Given the description of an element on the screen output the (x, y) to click on. 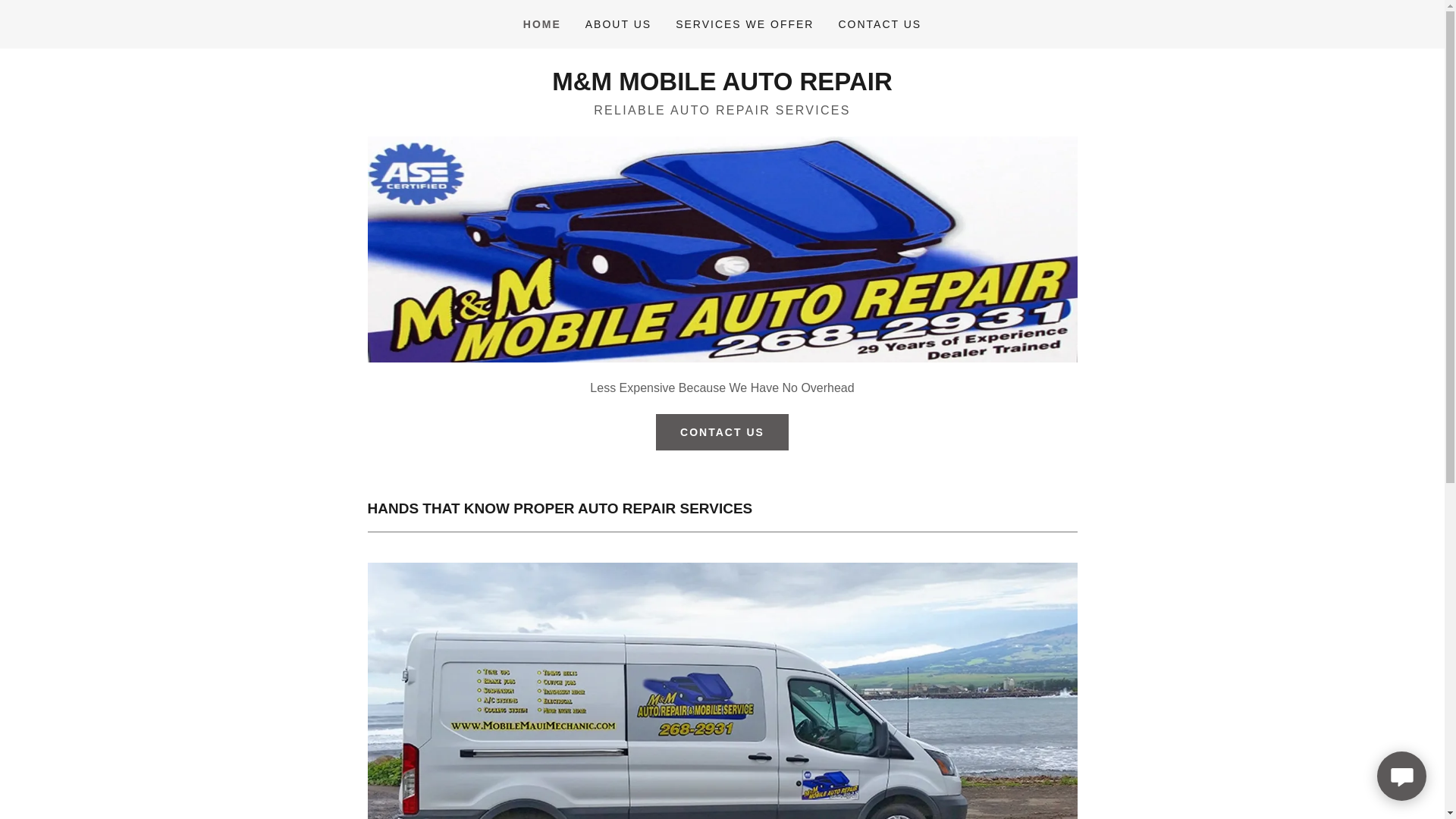
CONTACT US (722, 432)
ABOUT US (618, 23)
HOME (541, 24)
CONTACT US (879, 23)
SERVICES WE OFFER (744, 23)
